Given the description of an element on the screen output the (x, y) to click on. 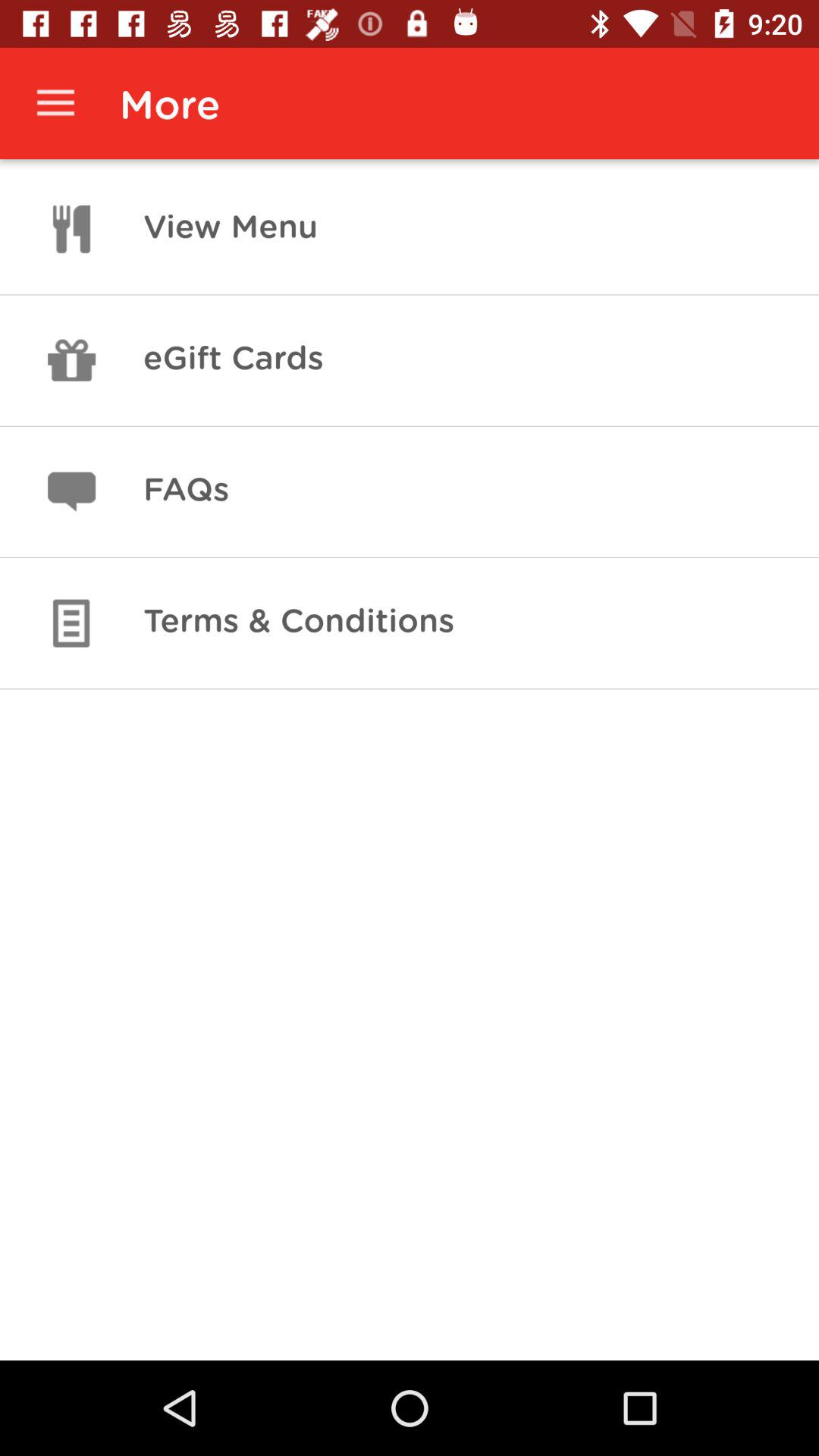
press icon below the view menu icon (233, 360)
